Given the description of an element on the screen output the (x, y) to click on. 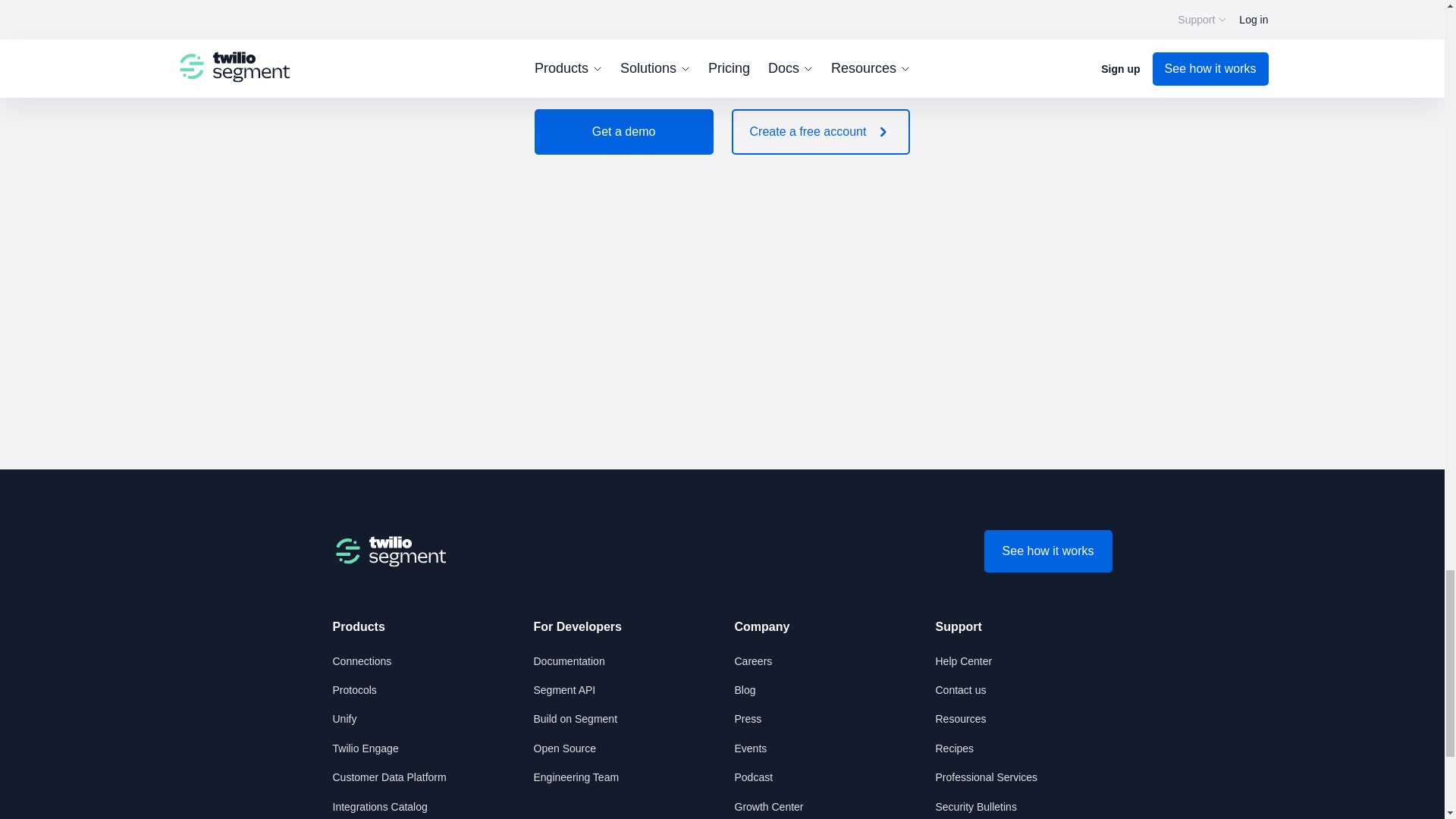
Open Source (565, 748)
Integrations Catalog (378, 806)
Customer Data Platform (388, 776)
Engineering Team (577, 776)
Build on Segment (575, 718)
Documentation (569, 661)
Segment API (564, 689)
Connections (361, 661)
Twilio Engage (364, 748)
See how it works (1048, 550)
